Given the description of an element on the screen output the (x, y) to click on. 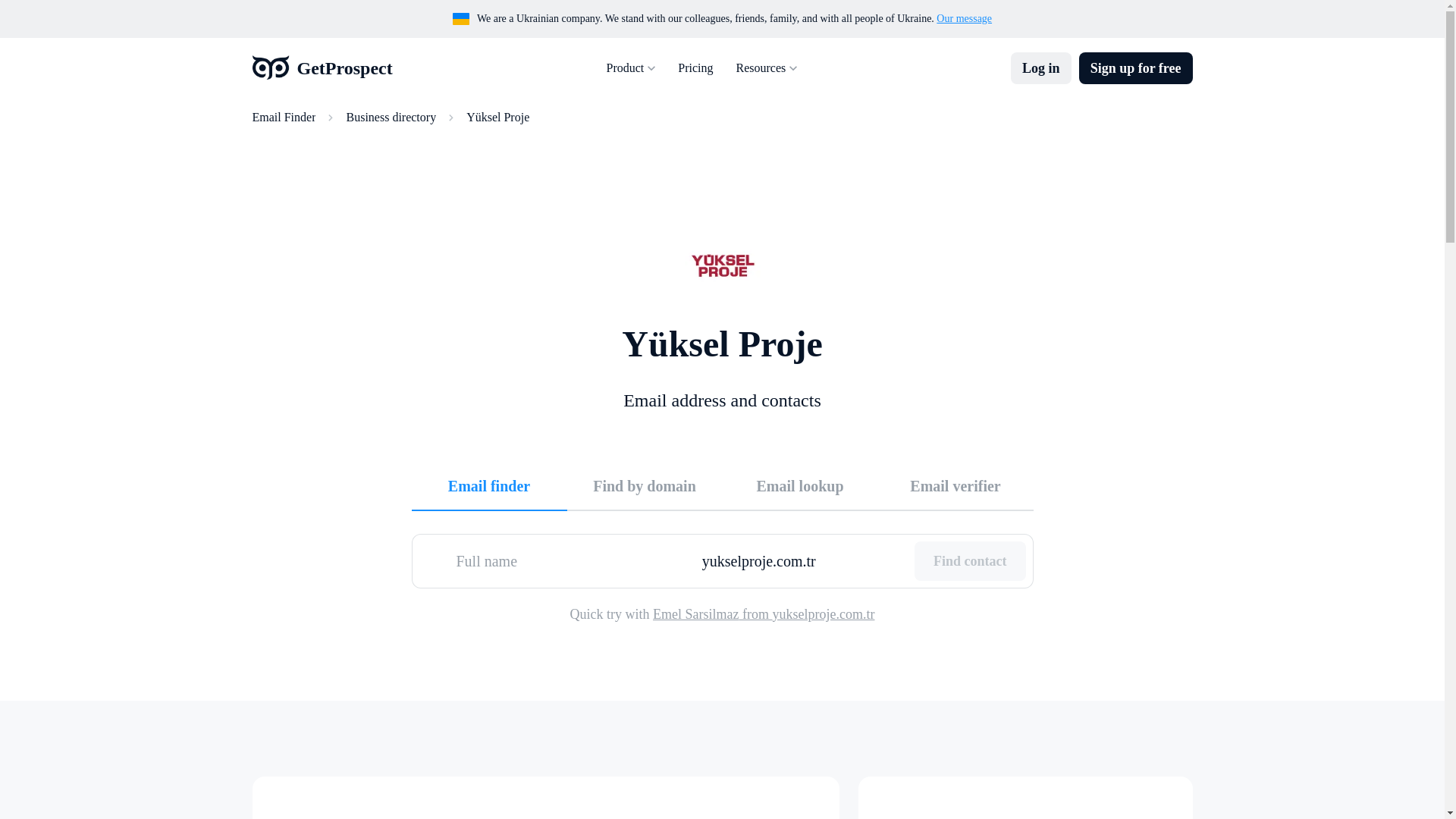
Sign up for free (1135, 68)
Find by domain (644, 485)
Find contact (970, 560)
yukselproje.com.tr (801, 560)
Business directory (390, 117)
GetProspect (321, 68)
Email finder (488, 485)
Our message (963, 18)
Email lookup (799, 485)
yukselproje.com.tr (801, 560)
